Given the description of an element on the screen output the (x, y) to click on. 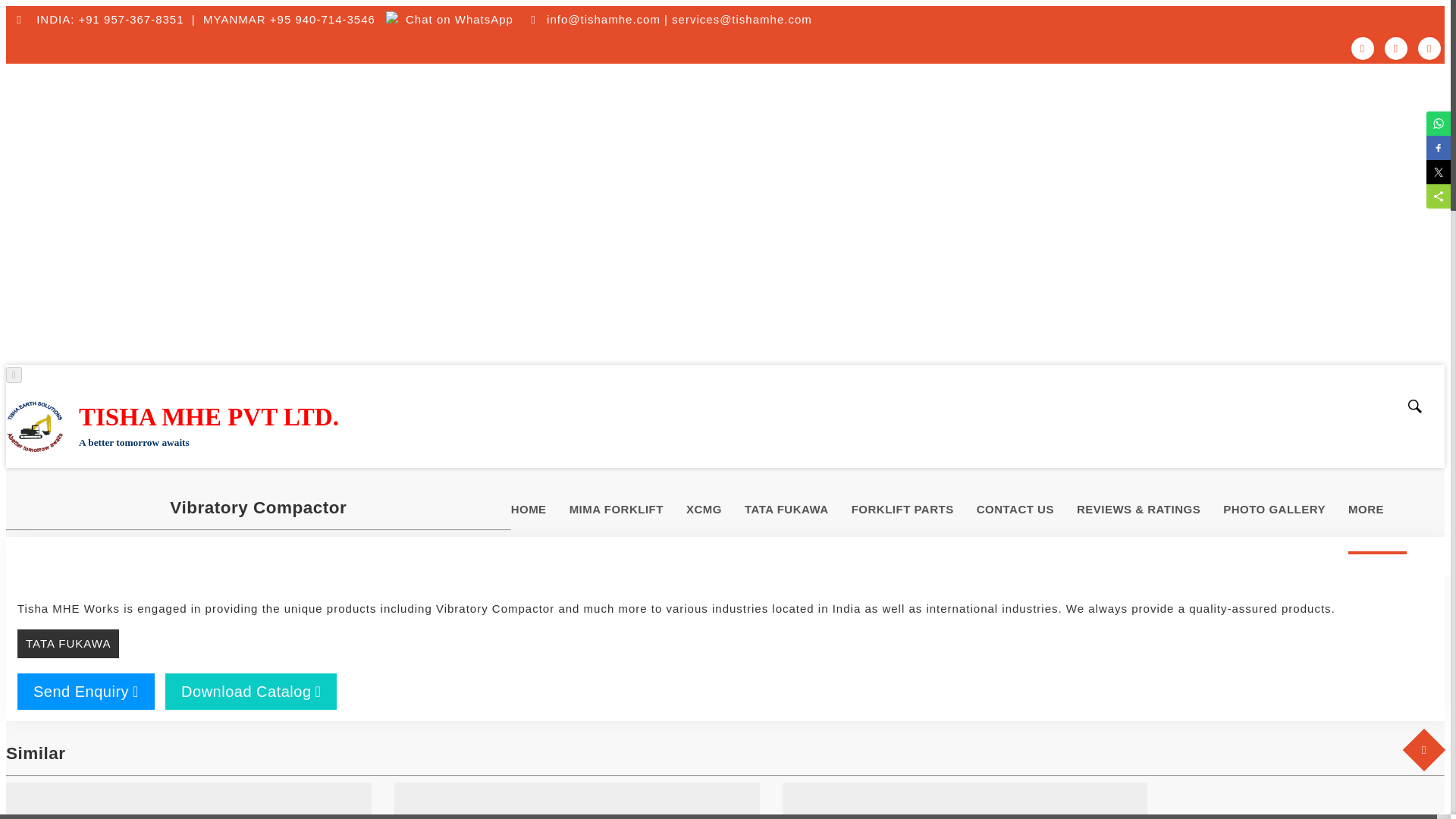
Send Enquiry (85, 691)
PHOTO GALLERY (1285, 508)
Download Catalog (250, 691)
MIMA FORKLIFT (627, 508)
Quick Coupler (965, 800)
TATA FUKAWA (797, 508)
MORE (1377, 508)
Chat on WhatsApp (449, 19)
FORKLIFT PARTS (913, 508)
XCMG (714, 508)
Automatic Grease Pump (577, 800)
HOME (540, 508)
Hydraulic Breaker (188, 800)
TATA FUKAWA (68, 643)
CONTACT US (1026, 508)
